Given the description of an element on the screen output the (x, y) to click on. 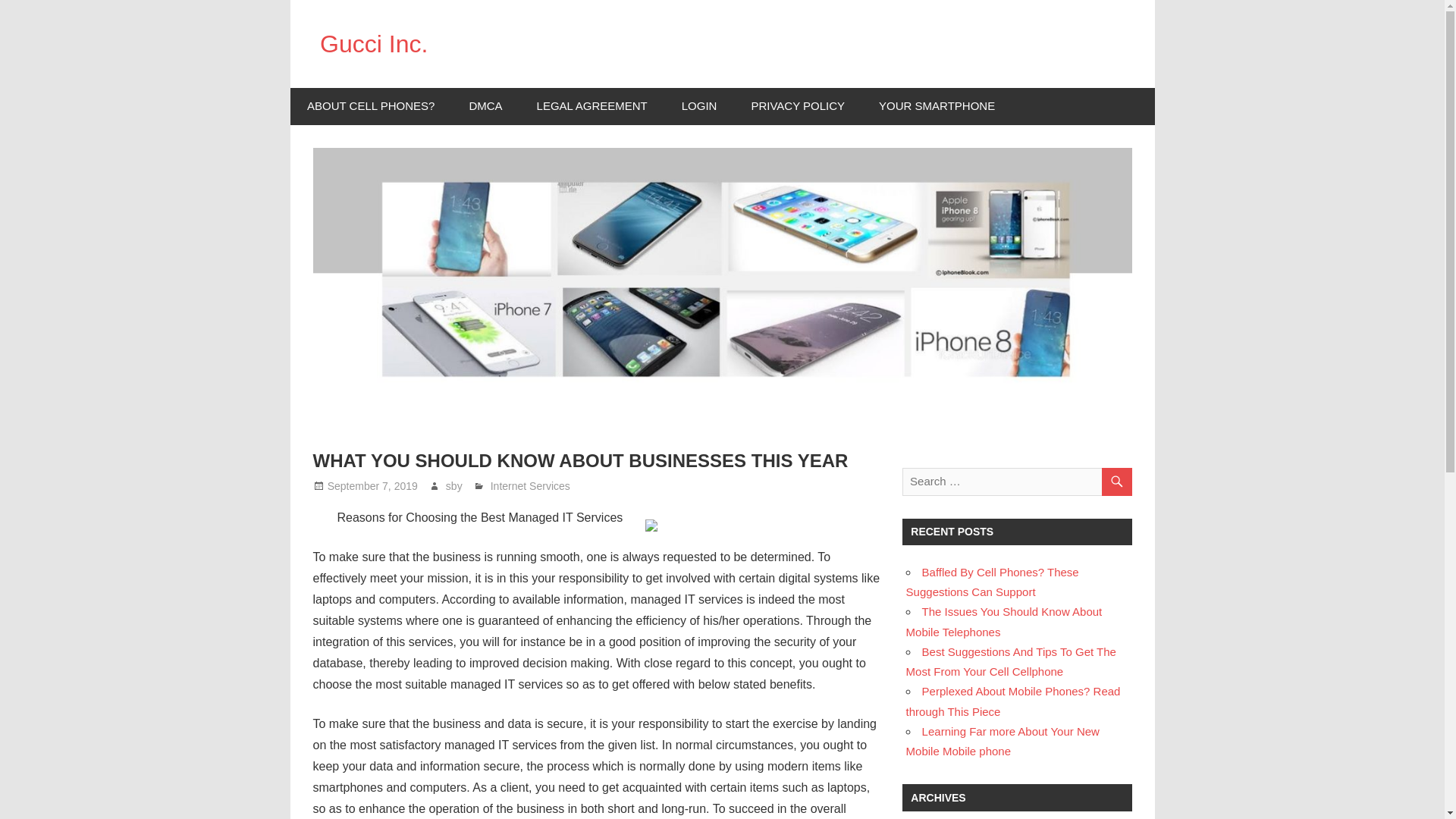
PRIVACY POLICY (797, 106)
Search for: (1016, 480)
The Issues You Should Know About Mobile Telephones (1003, 621)
ABOUT CELL PHONES? (370, 106)
YOUR SMARTPHONE (936, 106)
2:22 pm (372, 485)
Baffled By Cell Phones? These Suggestions Can Support (991, 581)
View all posts by sby (454, 485)
LOGIN (698, 106)
